Given the description of an element on the screen output the (x, y) to click on. 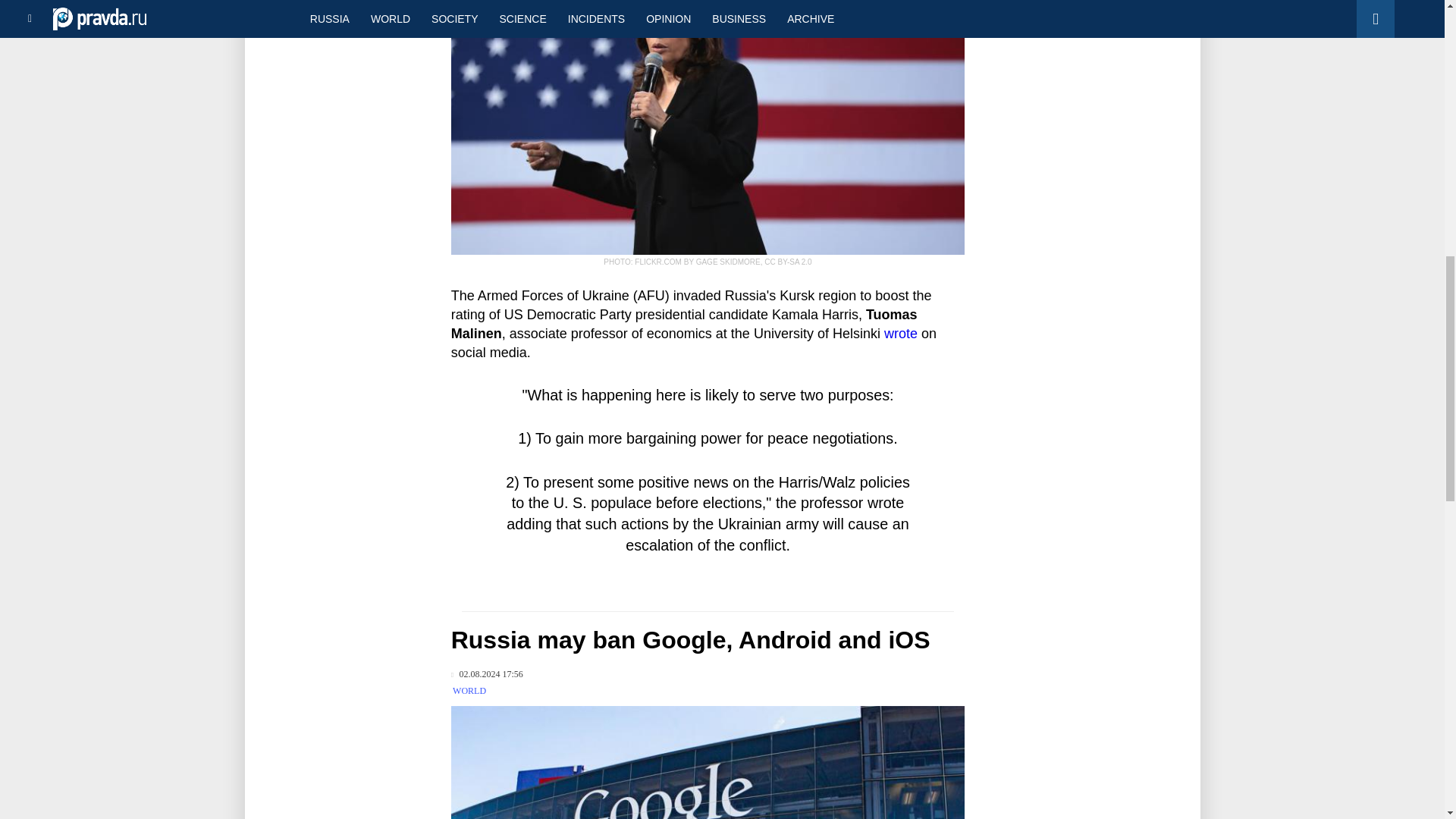
Published (486, 674)
Back to top (1418, 79)
